Given the description of an element on the screen output the (x, y) to click on. 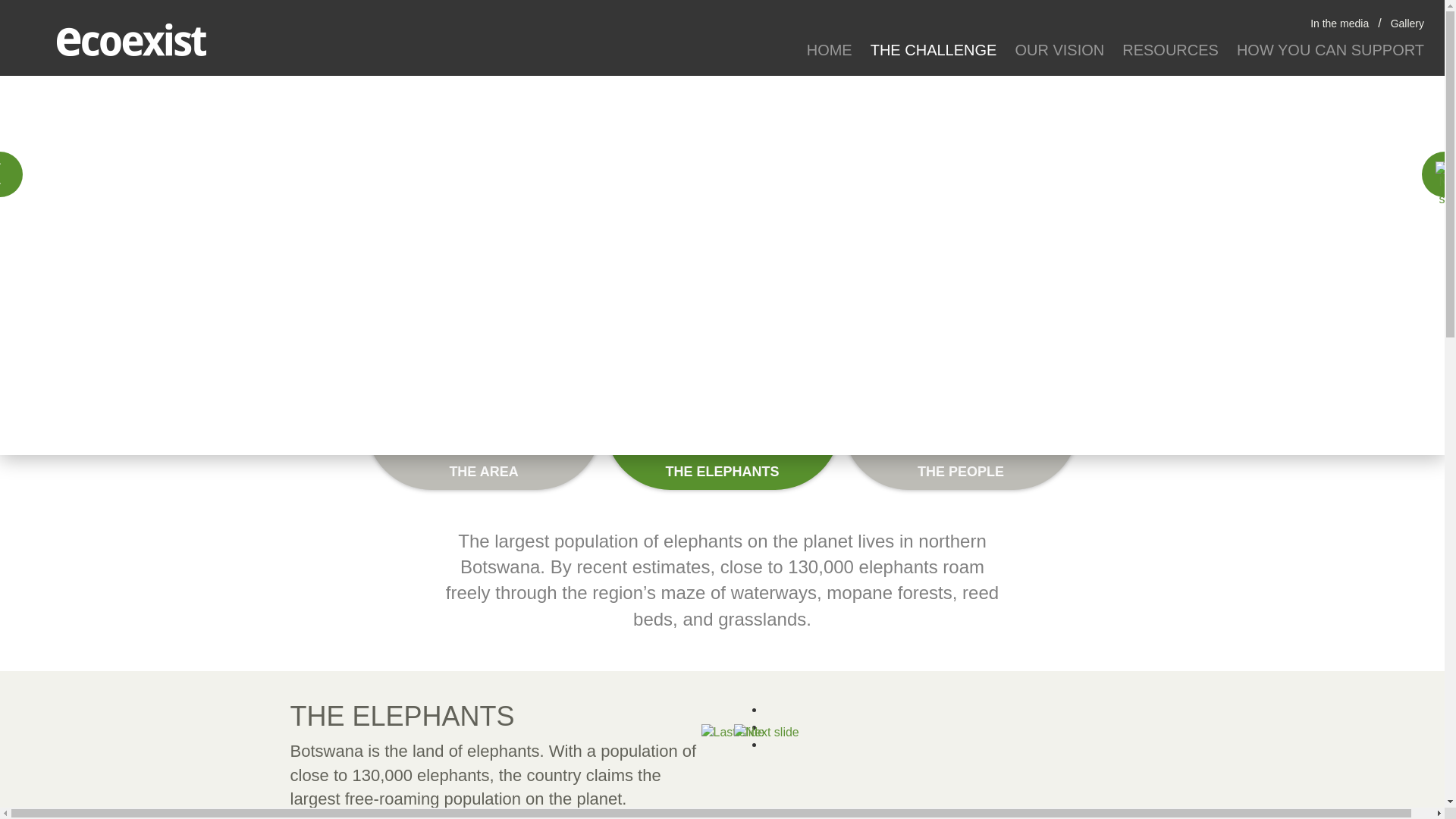
HOW YOU CAN SUPPORT (1329, 49)
Gallery (1406, 23)
THE AREA (483, 457)
THE CHALLENGE (933, 49)
In the media (1339, 23)
OUR VISION (1059, 49)
THE PEOPLE (960, 457)
THE ELEPHANTS (722, 457)
RESOURCES (1170, 49)
HOME (829, 49)
